Given the description of an element on the screen output the (x, y) to click on. 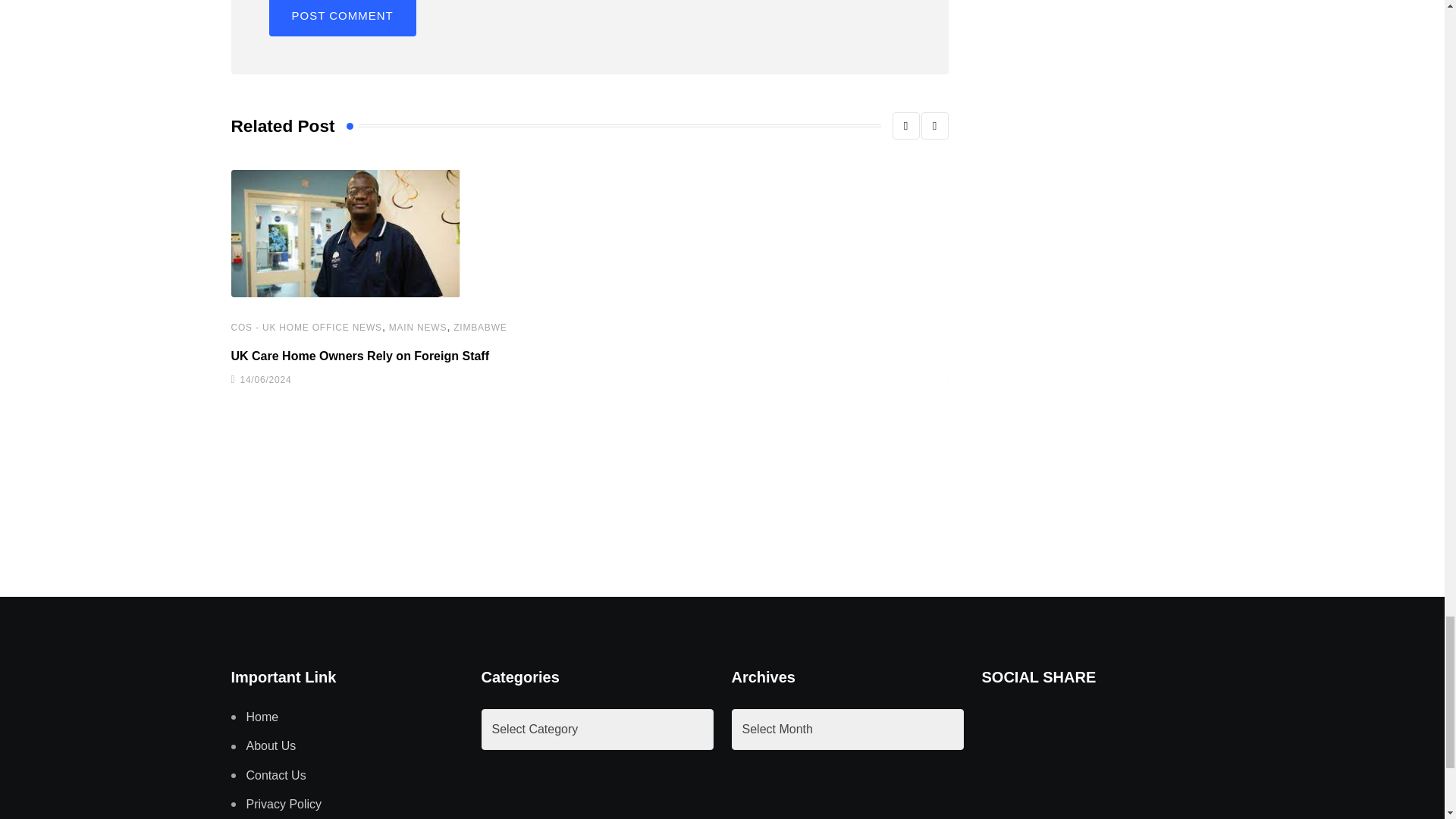
Post Comment (340, 18)
